Given the description of an element on the screen output the (x, y) to click on. 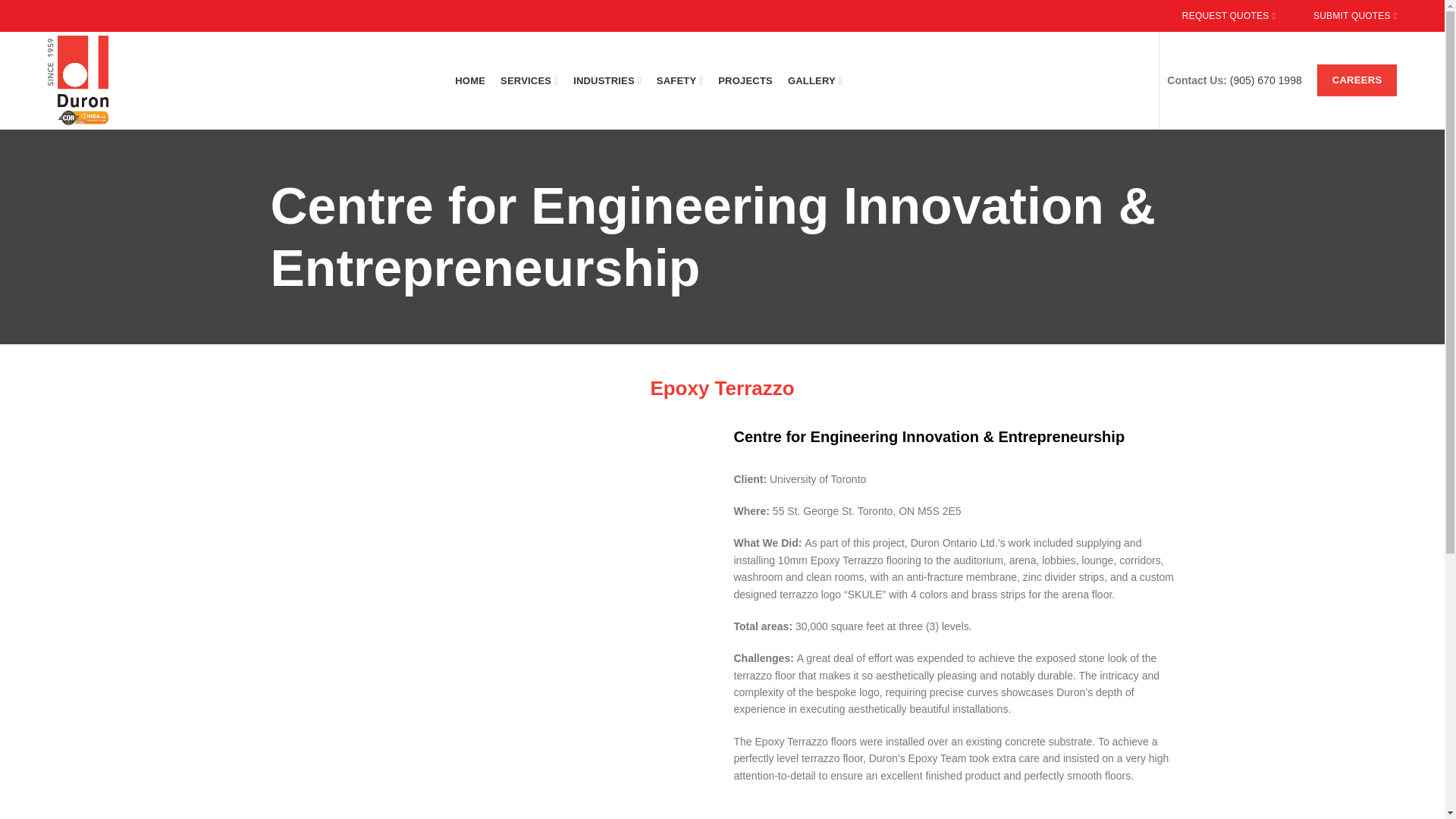
SERVICES (529, 80)
HOME (469, 80)
REQUEST QUOTES (1228, 15)
SUBMIT QUOTES (1355, 15)
